Given the description of an element on the screen output the (x, y) to click on. 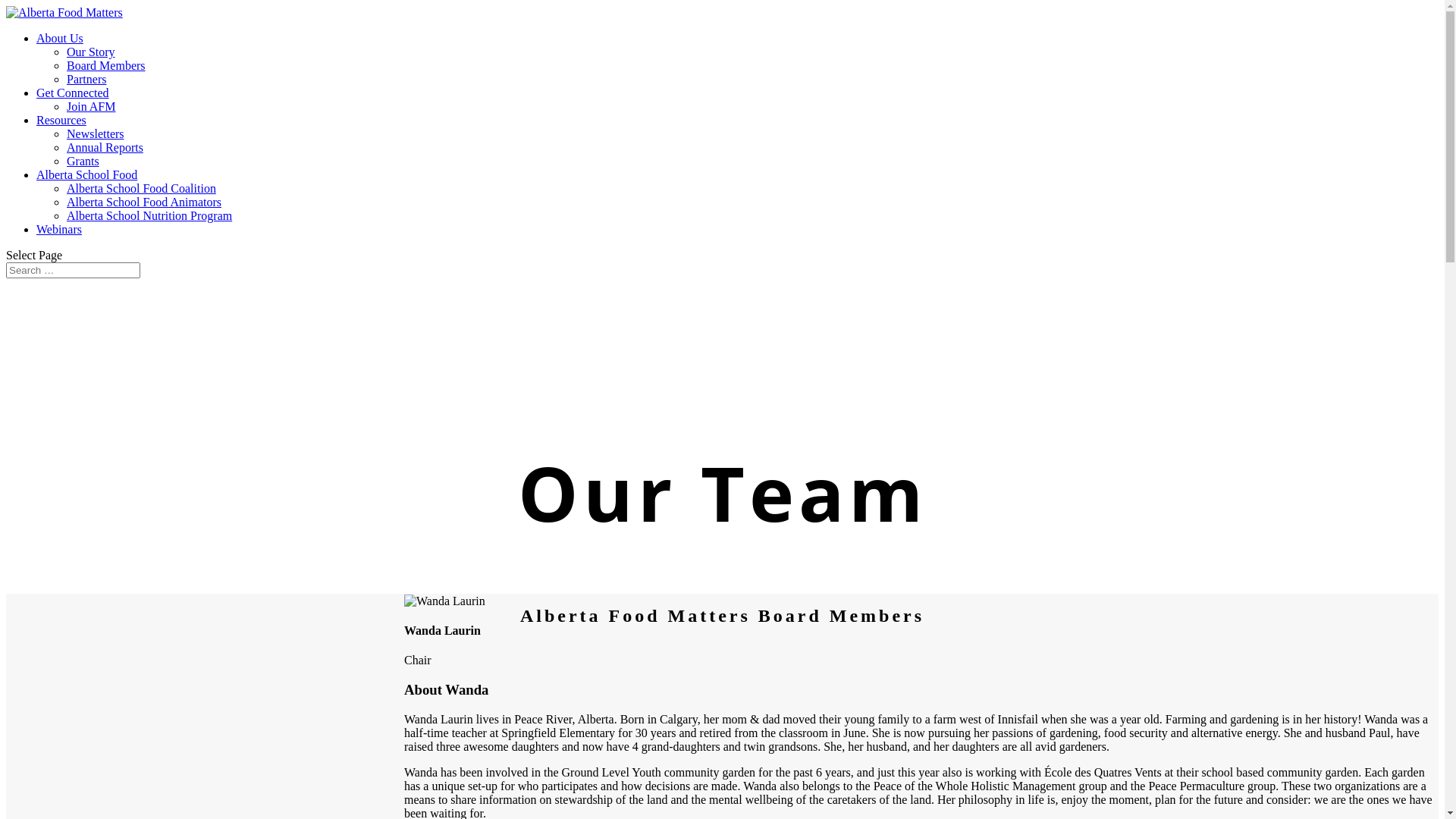
Webinars Element type: text (58, 228)
Annual Reports Element type: text (104, 147)
Resources Element type: text (61, 119)
Alberta School Food Element type: text (86, 174)
Our Story Element type: text (90, 51)
Grants Element type: text (82, 160)
Board Members Element type: text (105, 65)
Search for: Element type: hover (73, 270)
Newsletters Element type: text (95, 133)
Get Connected Element type: text (72, 92)
Alberta School Nutrition Program Element type: text (149, 215)
Join AFM Element type: text (90, 106)
Alberta School Food Coalition Element type: text (141, 188)
Partners Element type: text (86, 78)
About Us Element type: text (59, 37)
Alberta School Food Animators Element type: text (143, 201)
